Given the description of an element on the screen output the (x, y) to click on. 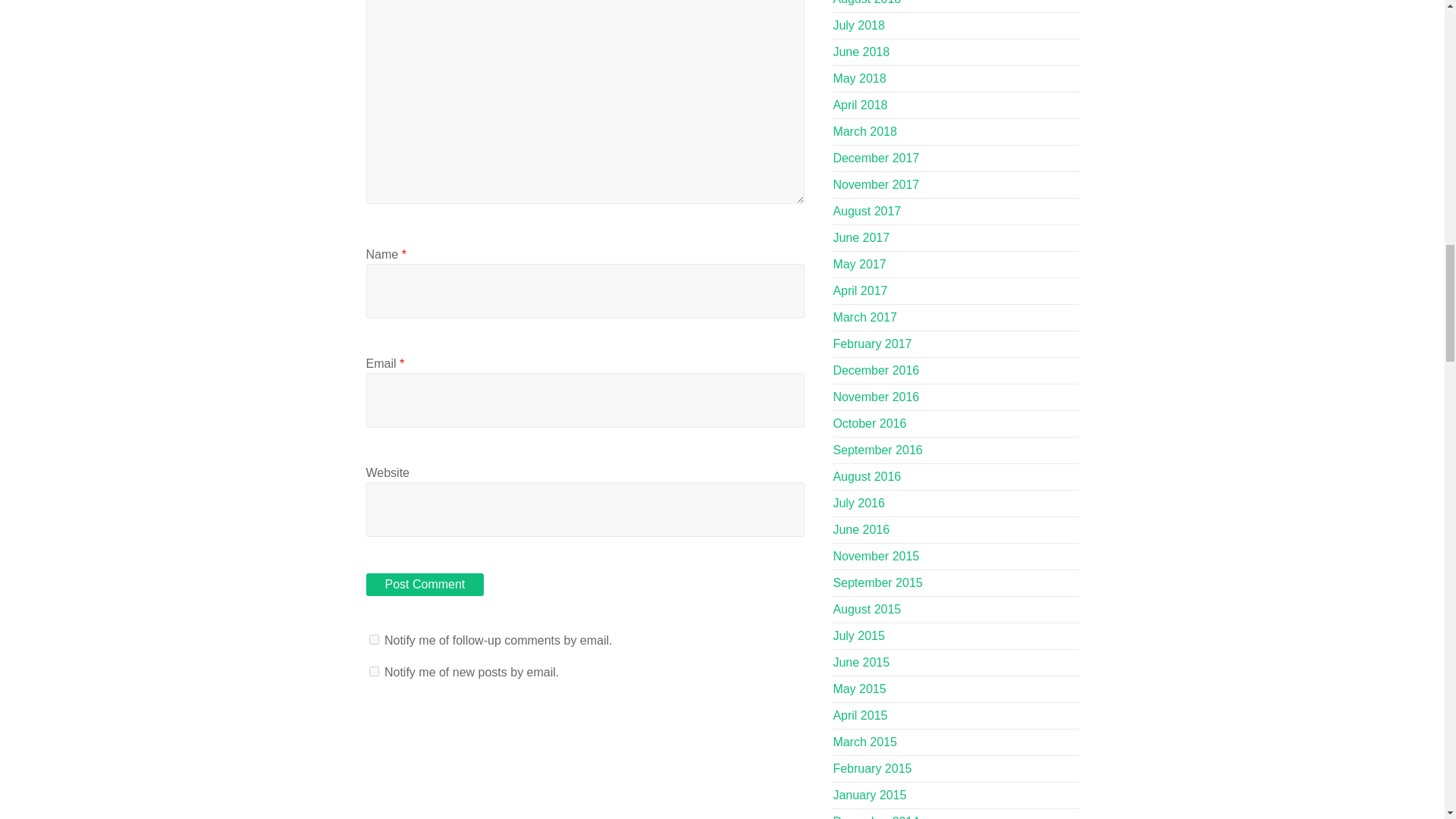
Post Comment (424, 584)
Post Comment (424, 584)
subscribe (373, 639)
subscribe (373, 671)
